Given the description of an element on the screen output the (x, y) to click on. 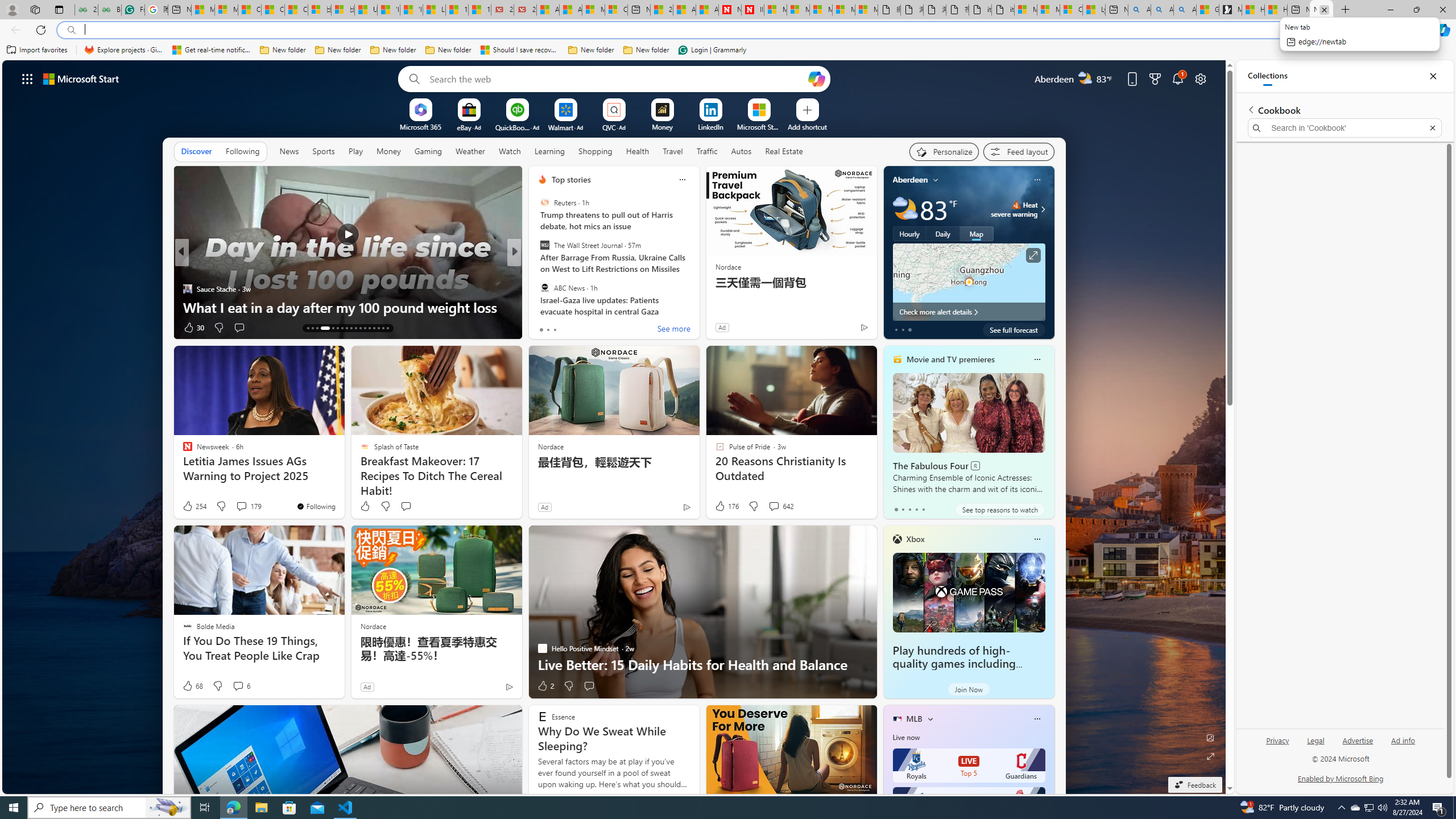
AutomationID: tab-18 (337, 328)
Movie and TV premieres (949, 359)
AutomationID: tab-15 (317, 328)
Page settings (1200, 78)
AutomationID: tab-25 (368, 328)
21 Movies That Outdid the Books They Were Based On (525, 9)
Consumer Health Data Privacy Policy (1071, 9)
AutomationID: tab-21 (350, 328)
Favorites bar (728, 49)
Alabama high school quarterback dies - Search Videos (1185, 9)
25 Basic Linux Commands For Beginners - GeeksforGeeks (86, 9)
